Given the description of an element on the screen output the (x, y) to click on. 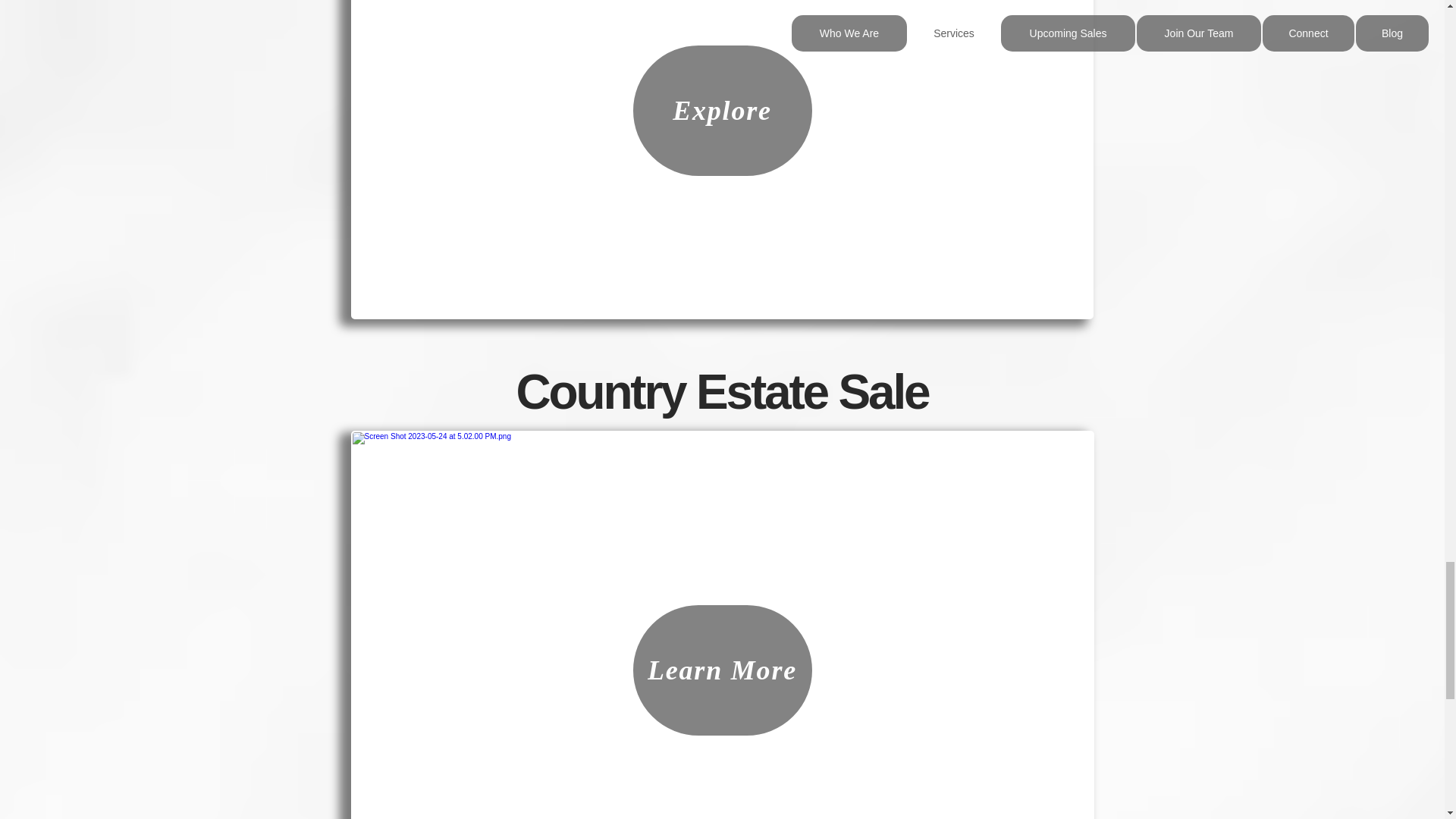
Explore (721, 110)
Learn More (721, 670)
